Given the description of an element on the screen output the (x, y) to click on. 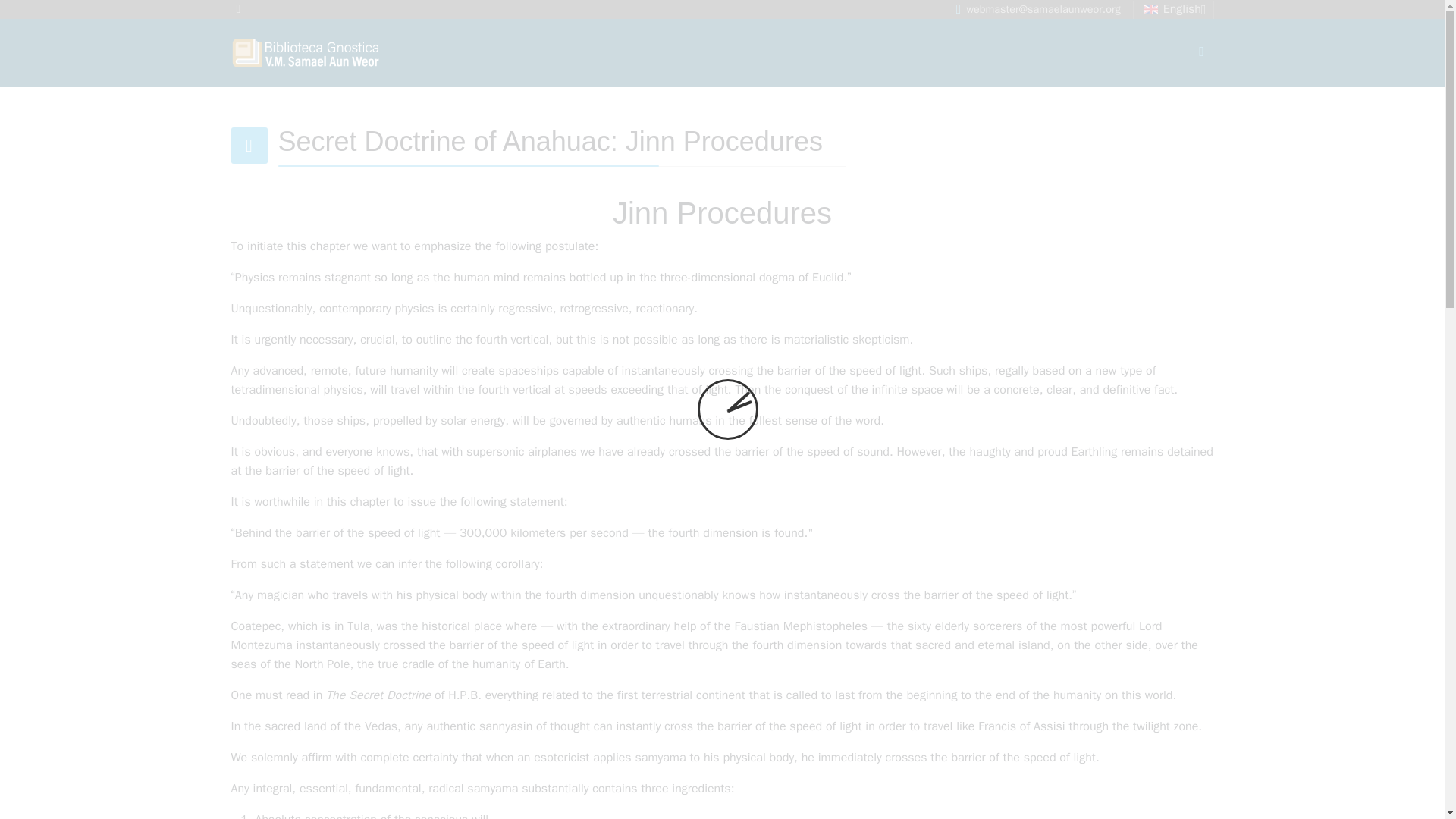
Menu (1200, 51)
English (1153, 8)
English (1174, 9)
